Given the description of an element on the screen output the (x, y) to click on. 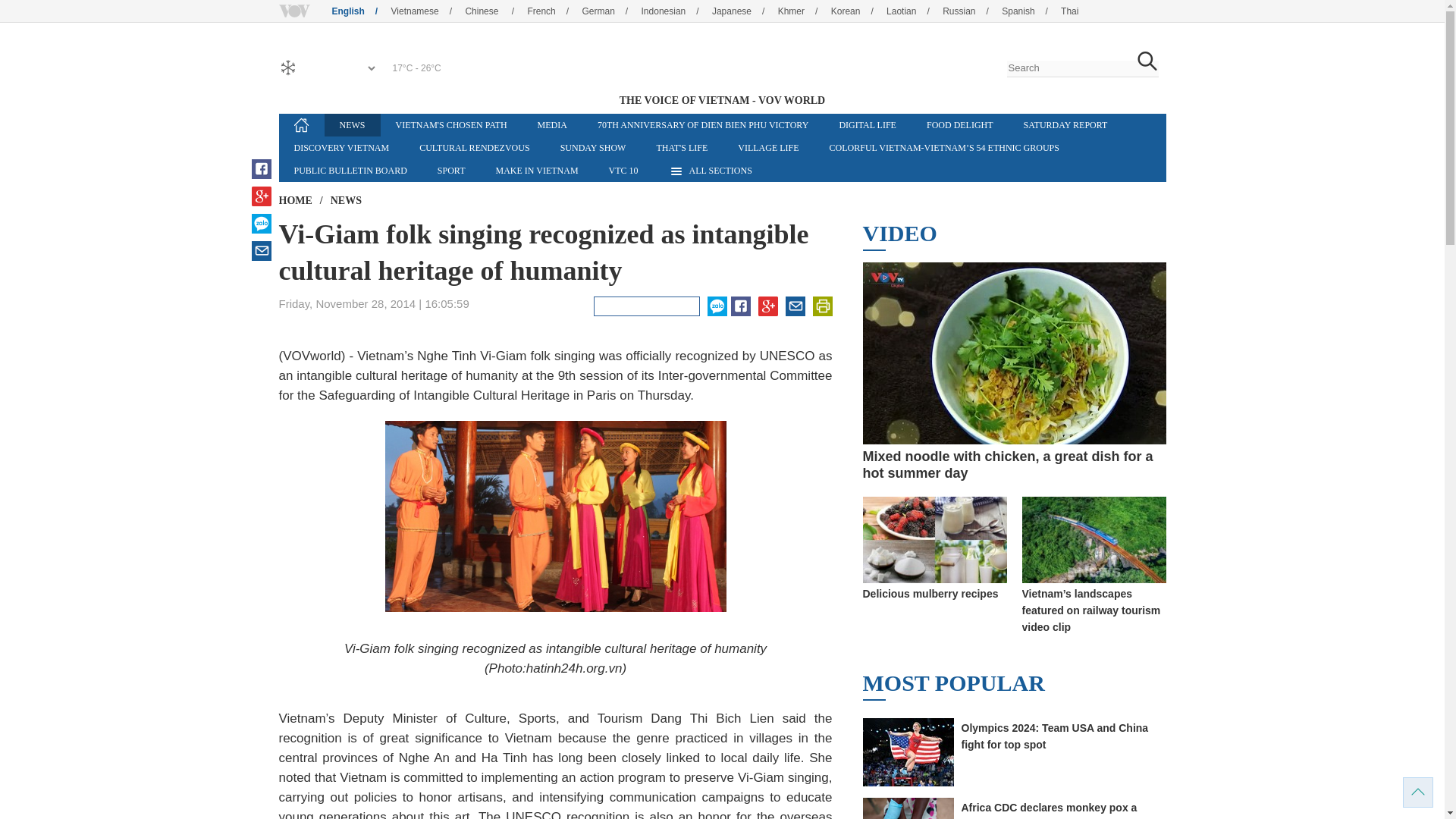
Cultural Rendezvous (474, 147)
THAT'S LIFE (681, 147)
Village life (767, 147)
That's life (681, 147)
PUBLIC BULLETIN BOARD (350, 169)
English (359, 10)
Media (552, 124)
THE VOICE OF VIETNAM - VOV WORLD (721, 59)
German (609, 10)
French (553, 10)
